Given the description of an element on the screen output the (x, y) to click on. 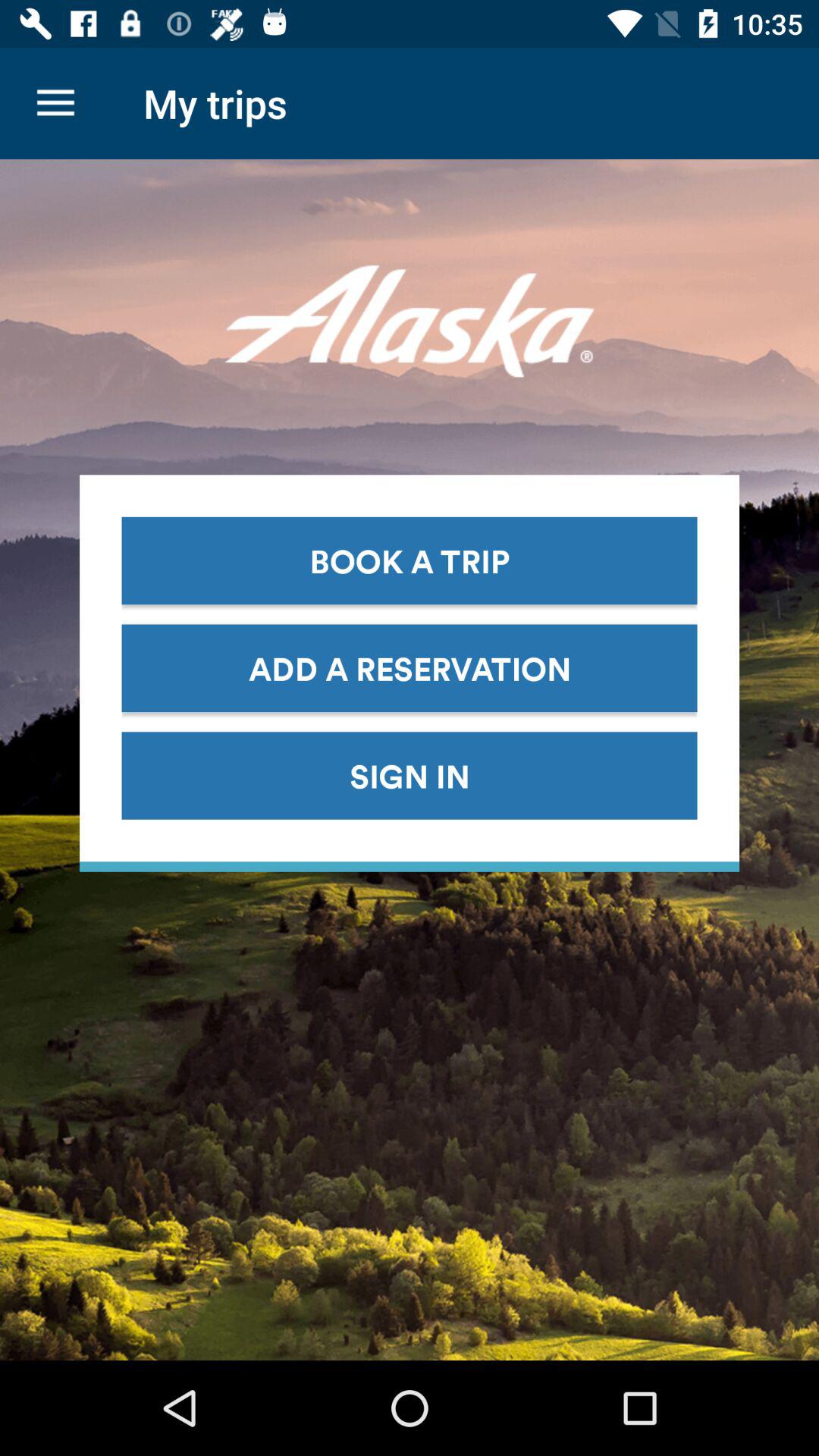
tap the item to the left of the my trips item (55, 103)
